Given the description of an element on the screen output the (x, y) to click on. 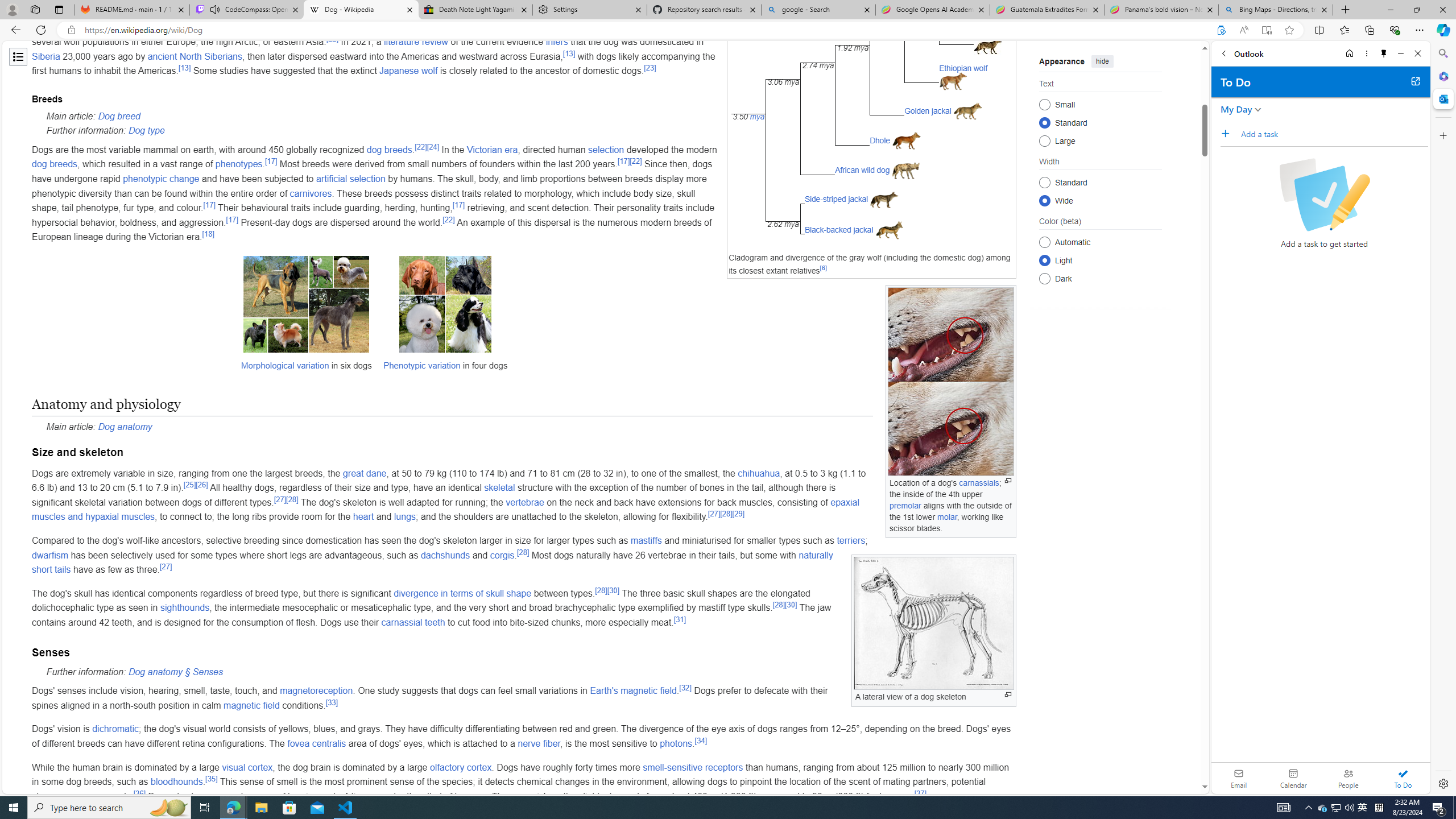
[30] (790, 604)
vertebrae (524, 501)
artificial selection (350, 178)
phenotypes (238, 163)
African wild dog (861, 169)
epaxial muscles and hypaxial muscles (445, 509)
Calendar. Date today is 22 (1293, 777)
Japanese wolf (409, 71)
visual cortex (247, 767)
corgis (502, 555)
Small (1044, 104)
Phenotypic variation (421, 365)
